Given the description of an element on the screen output the (x, y) to click on. 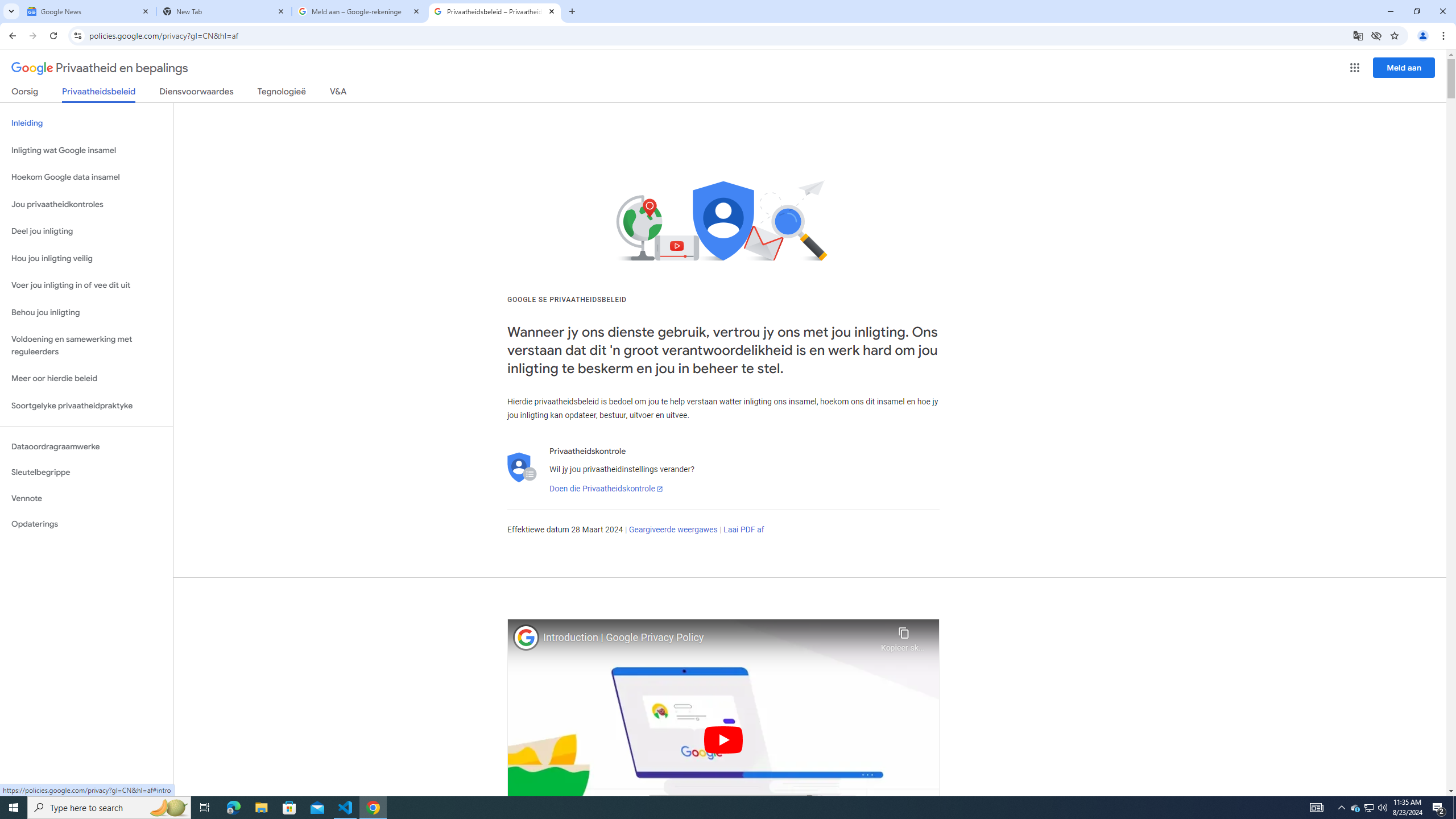
Geargiveerde weergawes (672, 529)
Privaatheidsbeleid (98, 94)
Vennote (86, 497)
Opdaterings (86, 524)
Meer oor hierdie beleid (86, 379)
V&A (337, 93)
Introduction | Google Privacy Policy (709, 637)
Diensvoorwaardes (196, 93)
